Given the description of an element on the screen output the (x, y) to click on. 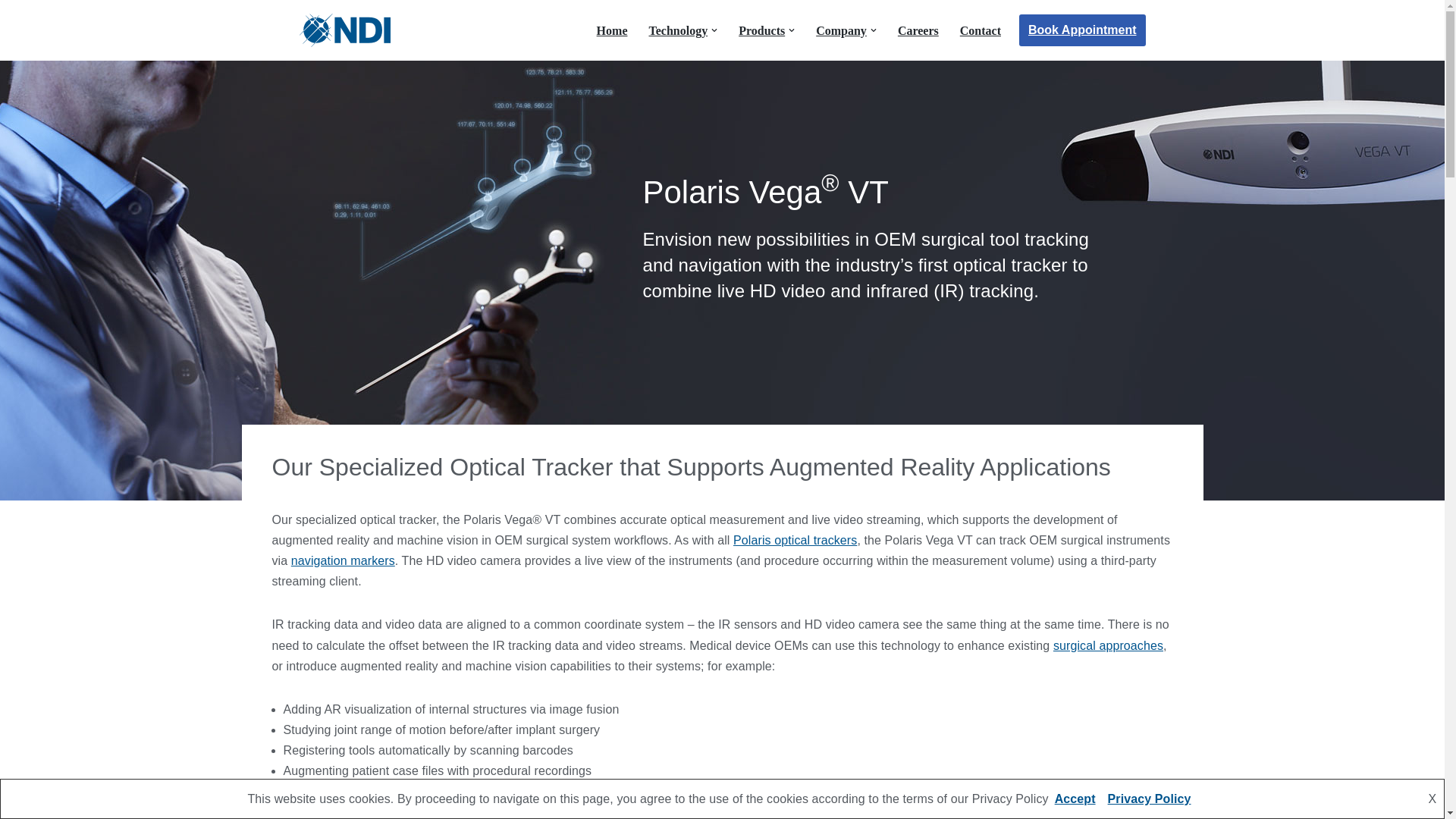
Technology (677, 29)
Contact (980, 29)
Company (840, 29)
Products (761, 29)
Home (611, 29)
Book Appointment (1082, 29)
Careers (918, 29)
Skip to content (11, 31)
